Given the description of an element on the screen output the (x, y) to click on. 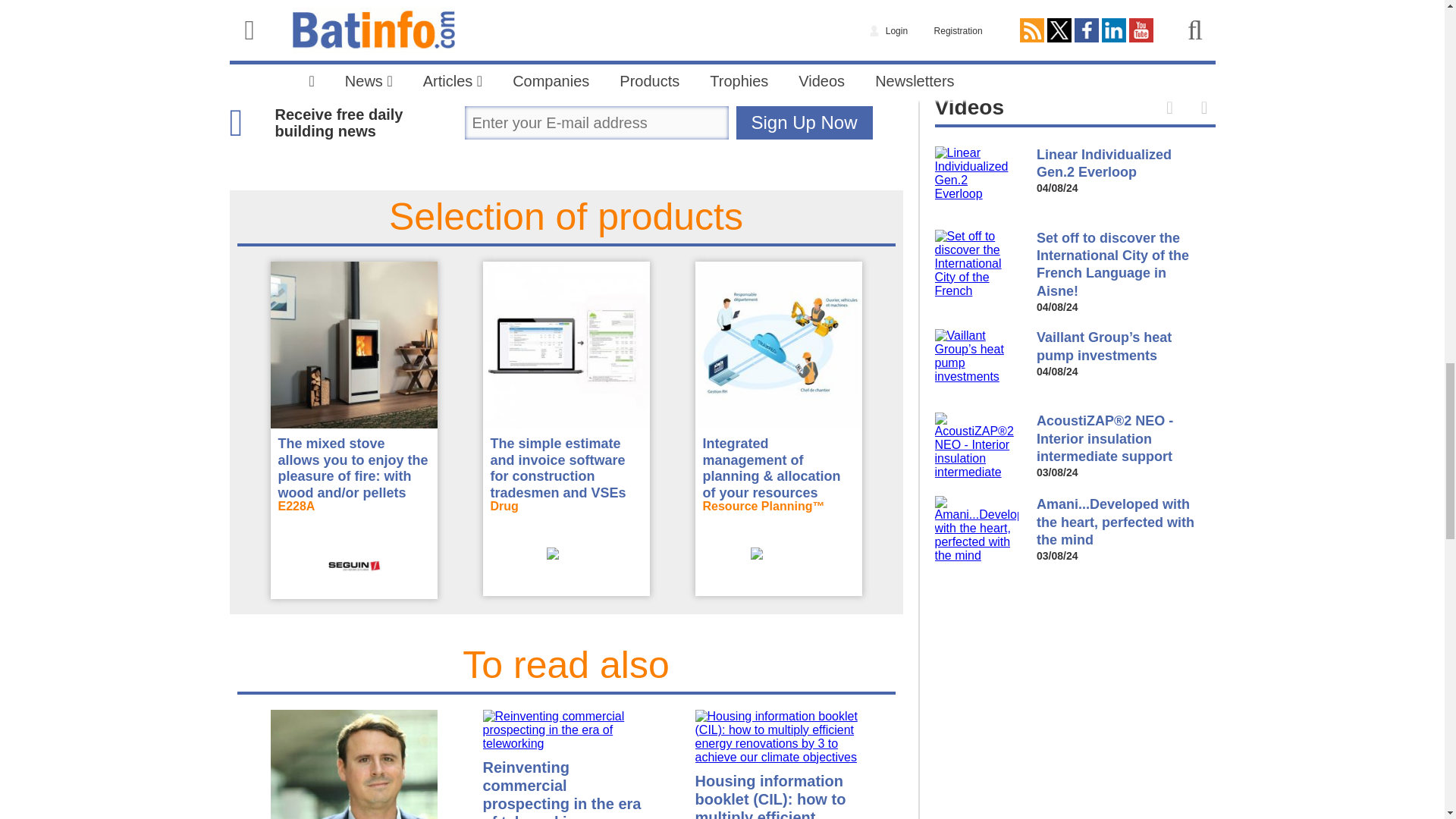
Obat (565, 517)
LinkedIn (709, 66)
A reform of the DPE which restores confidence to owners (352, 764)
Sign Up Now (803, 122)
E228A (353, 517)
